Given the description of an element on the screen output the (x, y) to click on. 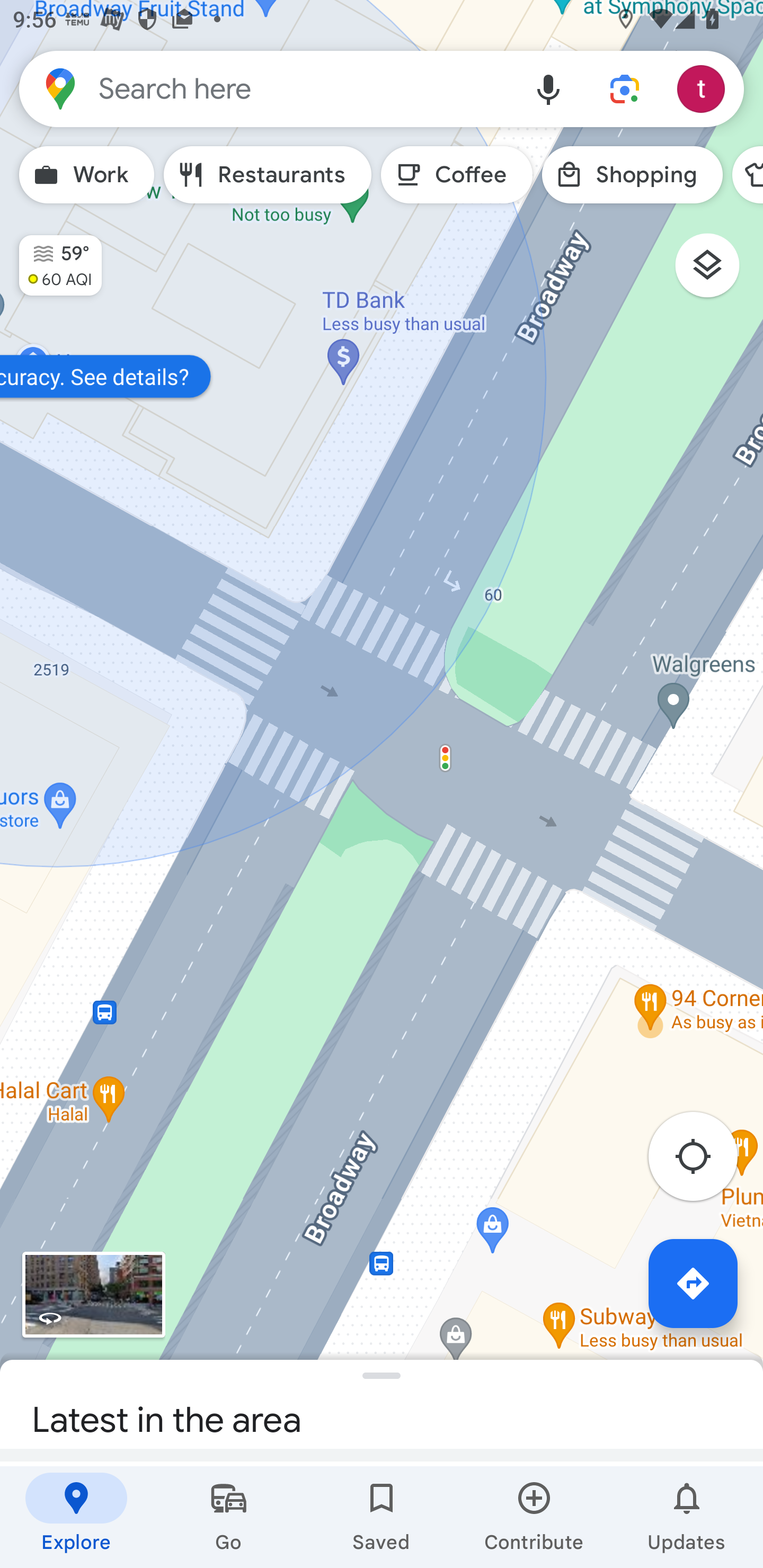
Search here (264, 88)
Voice search (548, 88)
Lens in Maps (624, 88)
Account and settings. (703, 88)
Work (86, 174)
Restaurants Search for Restaurants (267, 174)
Coffee Search for Coffee (456, 174)
Shopping Search for Shopping (631, 174)
Fog, 59°, Moderate, 60 AQI 59° 60 AQI (50, 257)
Layers (716, 271)
Re-center map to your location (702, 1161)
Directions (692, 1283)
View Street view imagery (93, 1294)
Go (228, 1517)
Saved (381, 1517)
Contribute (533, 1517)
Updates (686, 1517)
